Given the description of an element on the screen output the (x, y) to click on. 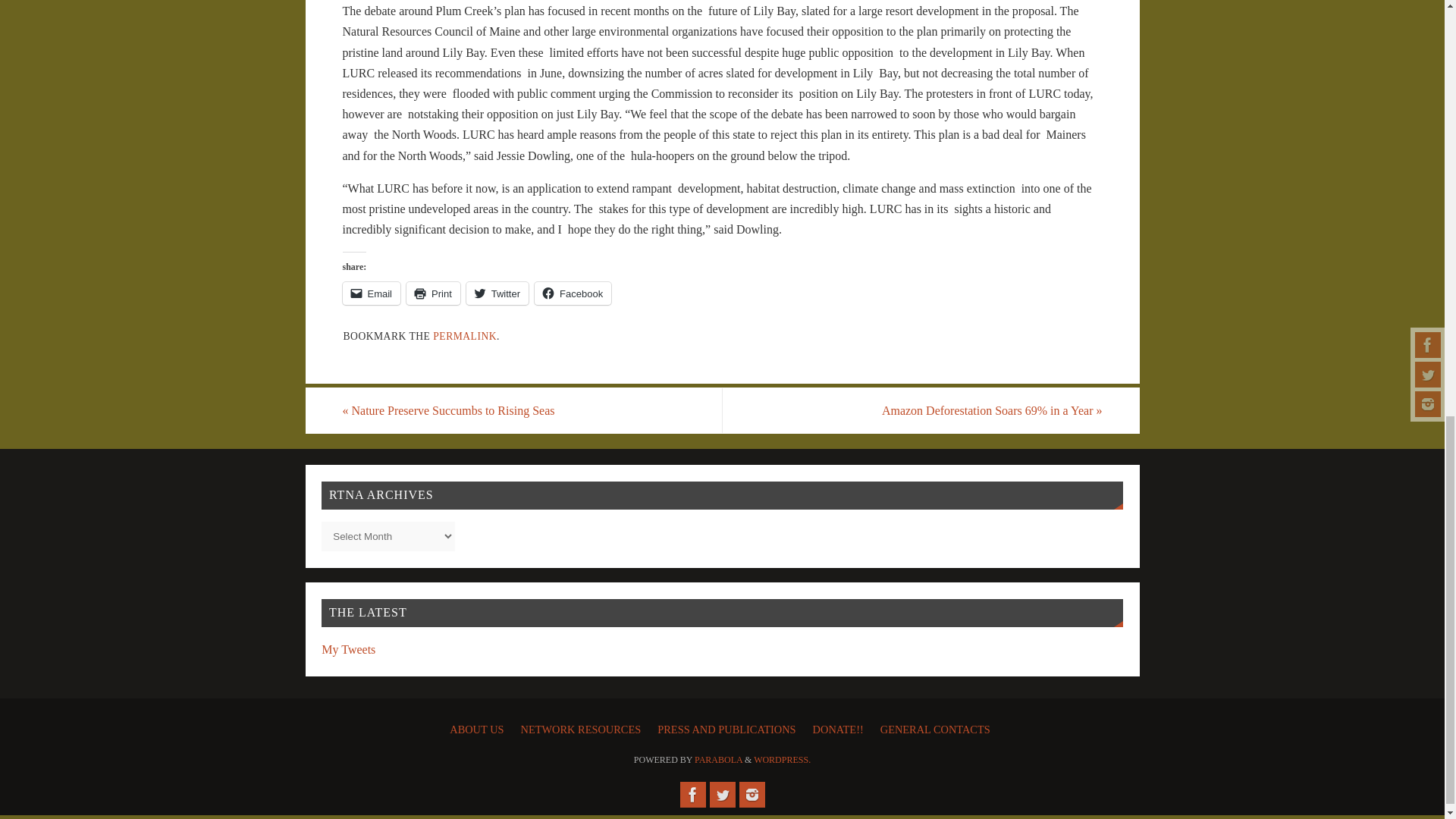
Click to print (433, 292)
Semantic Personal Publishing Platform (782, 759)
Click to share on Twitter (496, 292)
Click to share on Facebook (572, 292)
Parabola Theme by Cryout Creations (718, 759)
Click to email a link to a friend (371, 292)
